Given the description of an element on the screen output the (x, y) to click on. 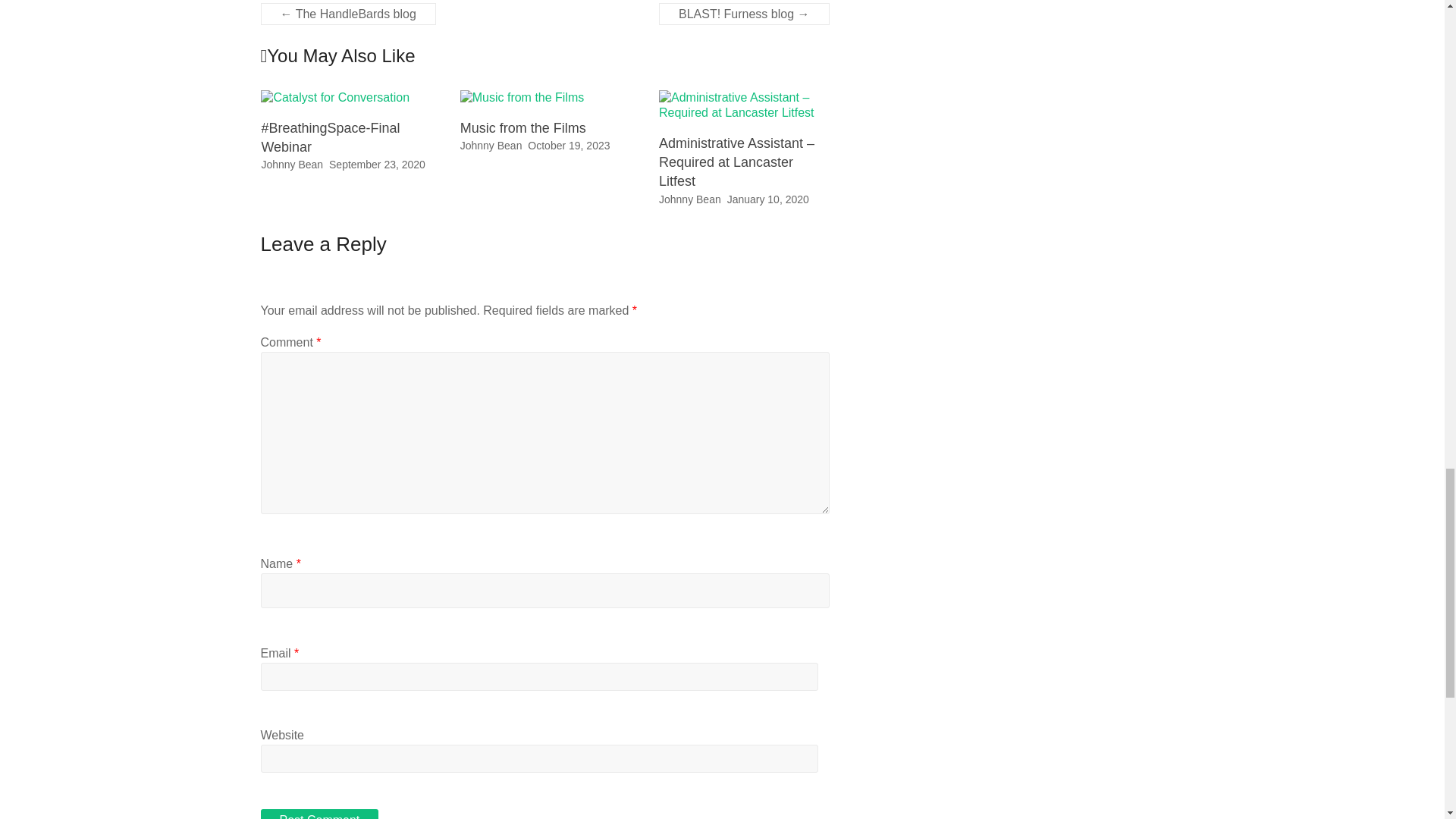
Music from the Films (522, 97)
September 23, 2020 (377, 164)
Johnny Bean (689, 199)
October 19, 2023 (568, 145)
Music from the Films (523, 127)
Johnny Bean (291, 164)
Johnny Bean (491, 145)
3:30 pm (568, 145)
Post Comment (319, 814)
January 10, 2020 (767, 199)
Music from the Films (522, 97)
Music from the Films (523, 127)
10:44 am (377, 164)
